Given the description of an element on the screen output the (x, y) to click on. 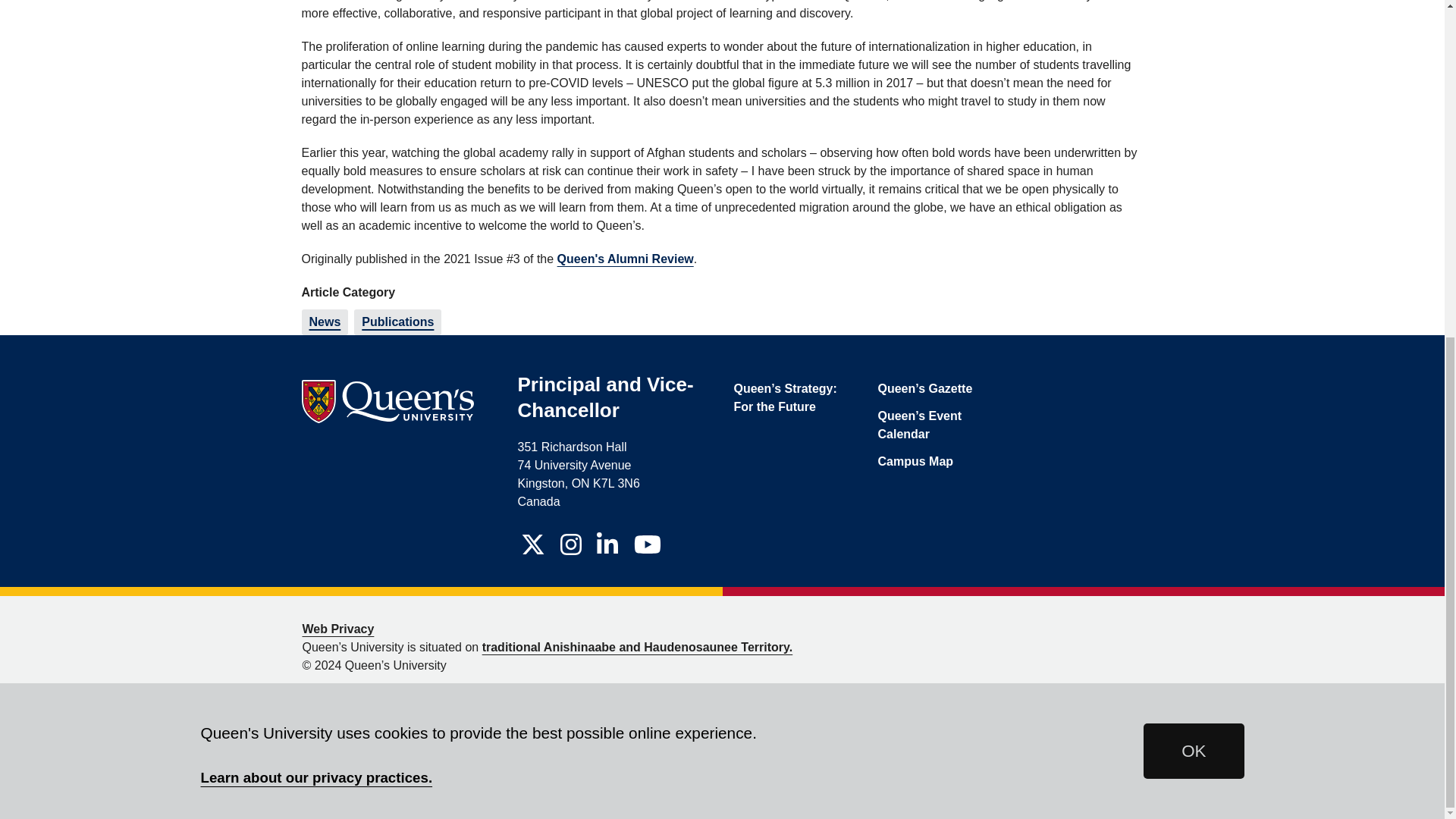
Office of the Principal and Vice-Chancellor on Youtube (647, 544)
